Given the description of an element on the screen output the (x, y) to click on. 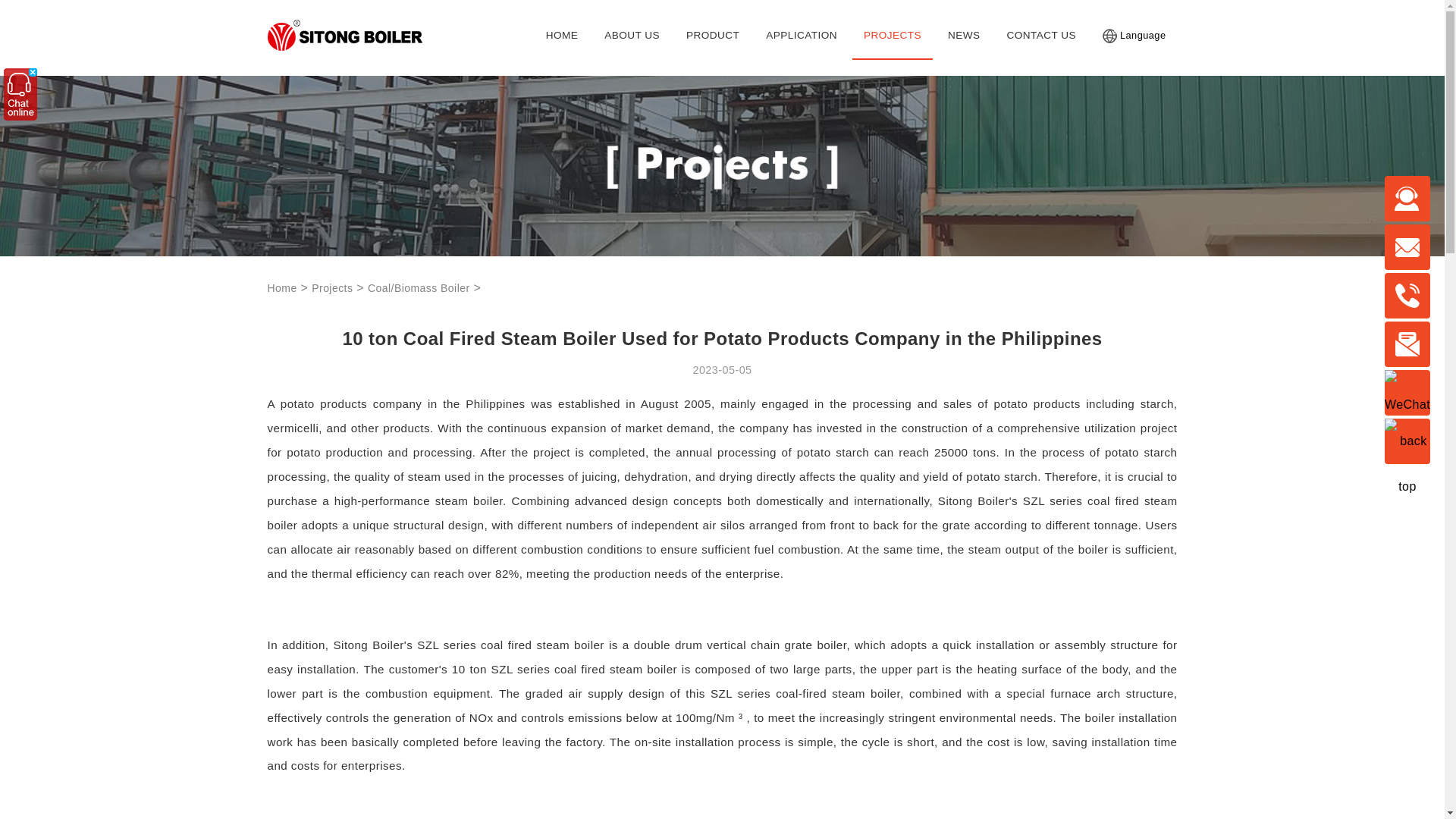
Click to contact us by whatsapp (1406, 295)
CONTACT US (1040, 34)
PRODUCT (712, 34)
Home (281, 287)
NEWS (963, 34)
APPLICATION (801, 34)
ABOUT US (631, 34)
PROJECTS (892, 34)
Projects (331, 287)
HOME (562, 34)
